Given the description of an element on the screen output the (x, y) to click on. 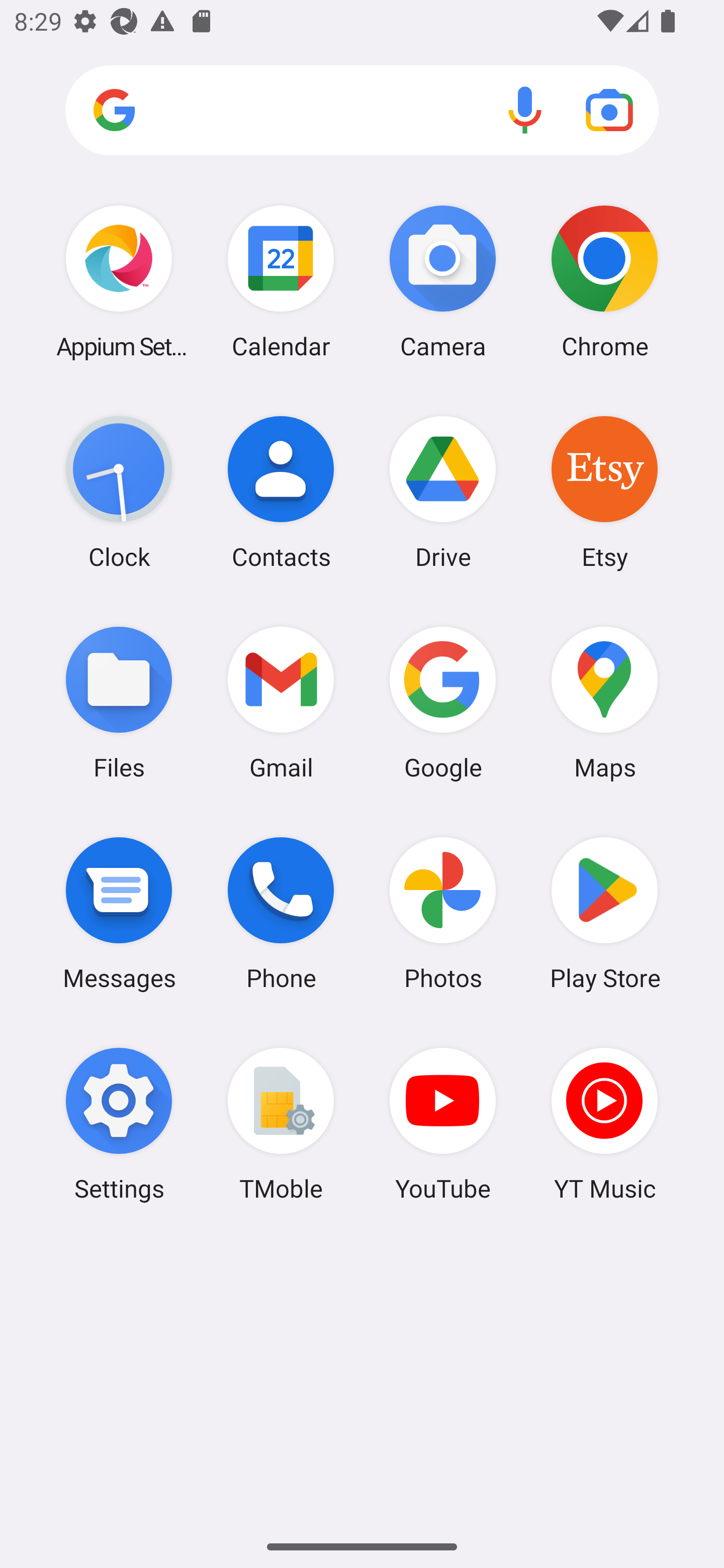
Search apps, web and more (361, 110)
Voice search (524, 109)
Google Lens (608, 109)
Appium Settings (118, 281)
Calendar (280, 281)
Camera (443, 281)
Chrome (604, 281)
Clock (118, 492)
Contacts (280, 492)
Drive (443, 492)
Etsy (604, 492)
Files (118, 702)
Gmail (280, 702)
Google (443, 702)
Maps (604, 702)
Messages (118, 913)
Phone (280, 913)
Photos (443, 913)
Play Store (604, 913)
Settings (118, 1124)
TMoble (280, 1124)
YouTube (443, 1124)
YT Music (604, 1124)
